Given the description of an element on the screen output the (x, y) to click on. 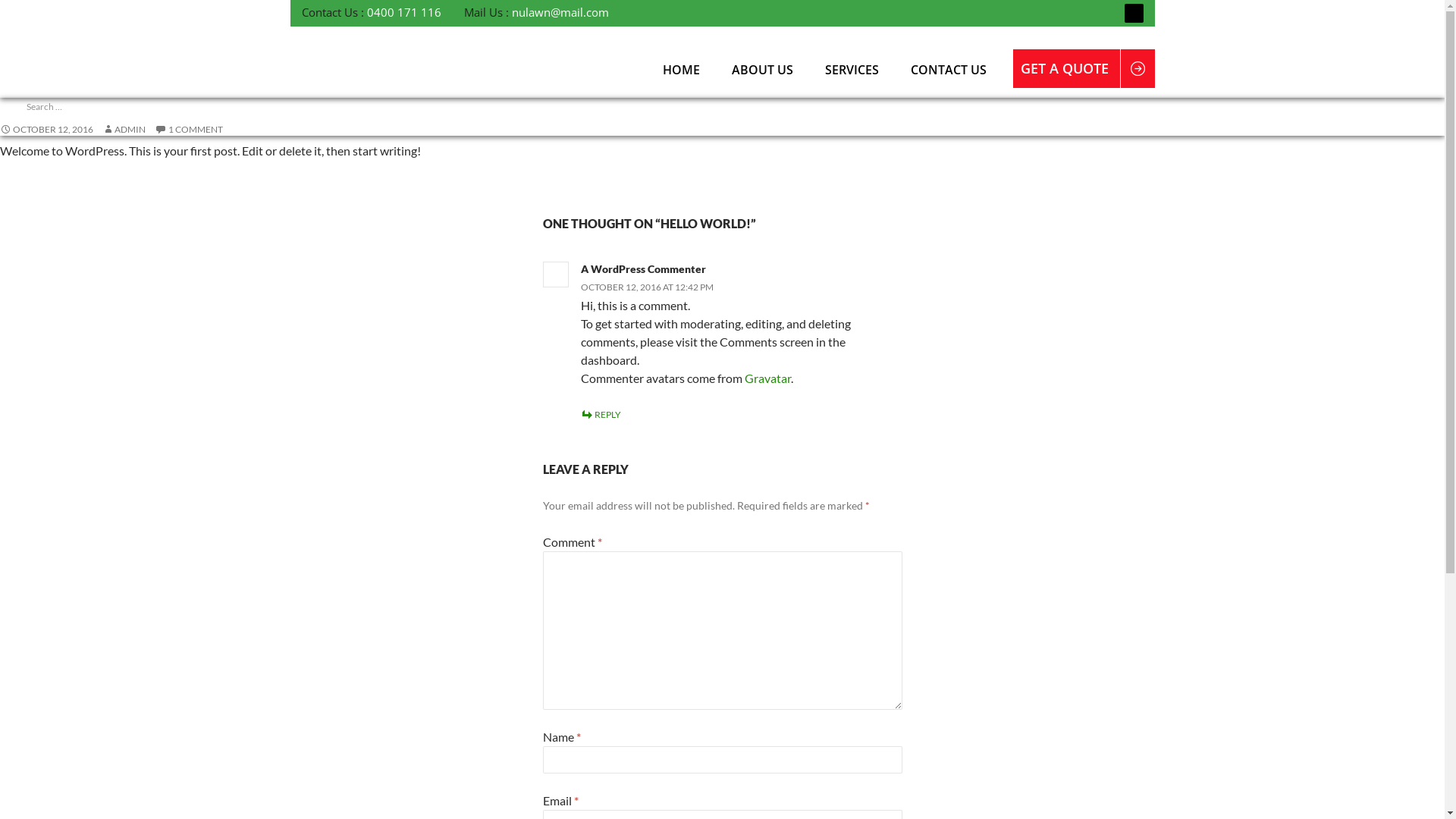
SERVICES Element type: text (851, 69)
October 2016 Element type: text (50, 381)
ABOUT US Element type: text (762, 69)
Hello world! Element type: text (47, 185)
ADMIN Element type: text (123, 128)
OCTOBER 12, 2016 Element type: text (46, 128)
REPLY Element type: text (600, 414)
Comments feed Element type: text (53, 572)
OCTOBER 12, 2016 AT 12:42 PM Element type: text (646, 286)
GET A QUOTE Element type: text (1070, 68)
A WordPress Commenter Element type: text (643, 268)
Search Element type: text (29, 9)
HOME Element type: text (680, 69)
0400 171 116 Element type: text (404, 11)
CONTACT US Element type: text (948, 69)
WordPress.org Element type: text (52, 590)
Log in Element type: text (34, 536)
Gravatar Element type: text (767, 377)
nulawn@mail.com Element type: text (559, 11)
Hello world! Element type: text (47, 304)
SKIP TO CONTENT Element type: text (646, 44)
A WordPress Commenter Element type: text (48, 283)
Uncategorized Element type: text (51, 458)
1 COMMENT Element type: text (188, 128)
Entries feed Element type: text (45, 554)
